Given the description of an element on the screen output the (x, y) to click on. 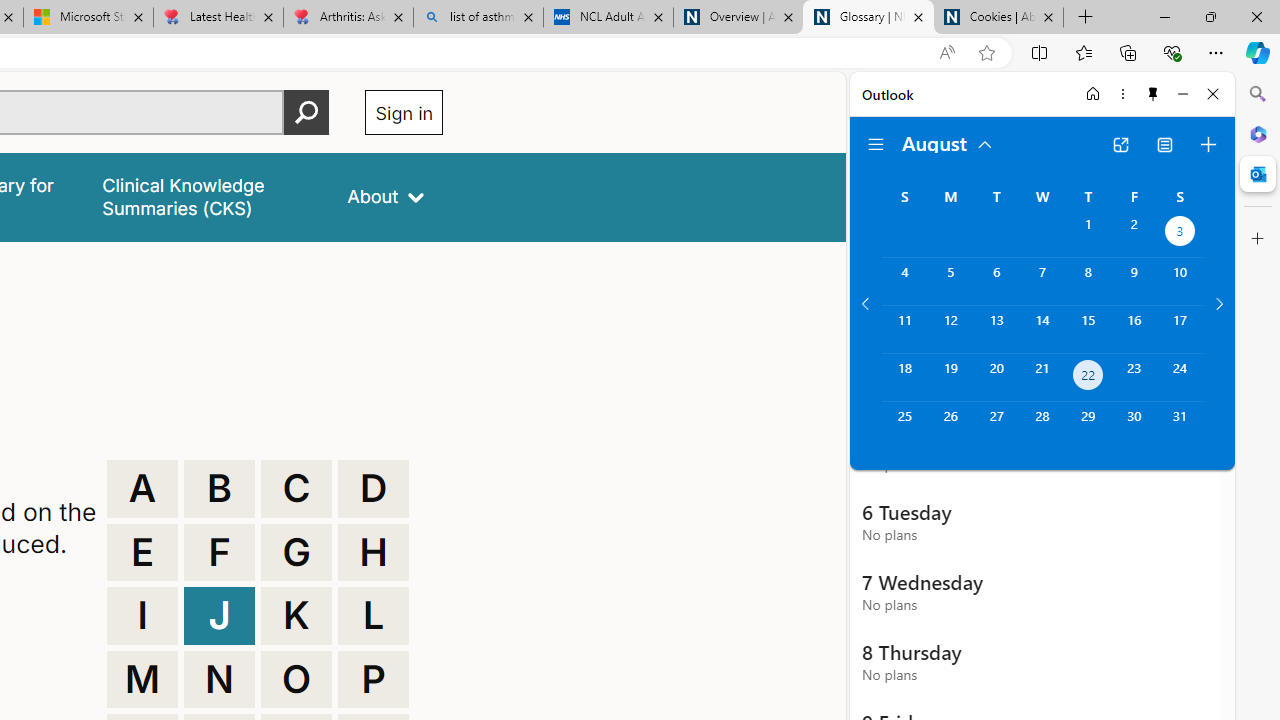
Friday, August 9, 2024.  (1134, 281)
C (296, 488)
F (219, 551)
Saturday, August 10, 2024.  (1180, 281)
Monday, August 26, 2024.  (950, 425)
Perform search (307, 112)
Thursday, August 8, 2024.  (1088, 281)
Thursday, August 1, 2024.  (1088, 233)
